Given the description of an element on the screen output the (x, y) to click on. 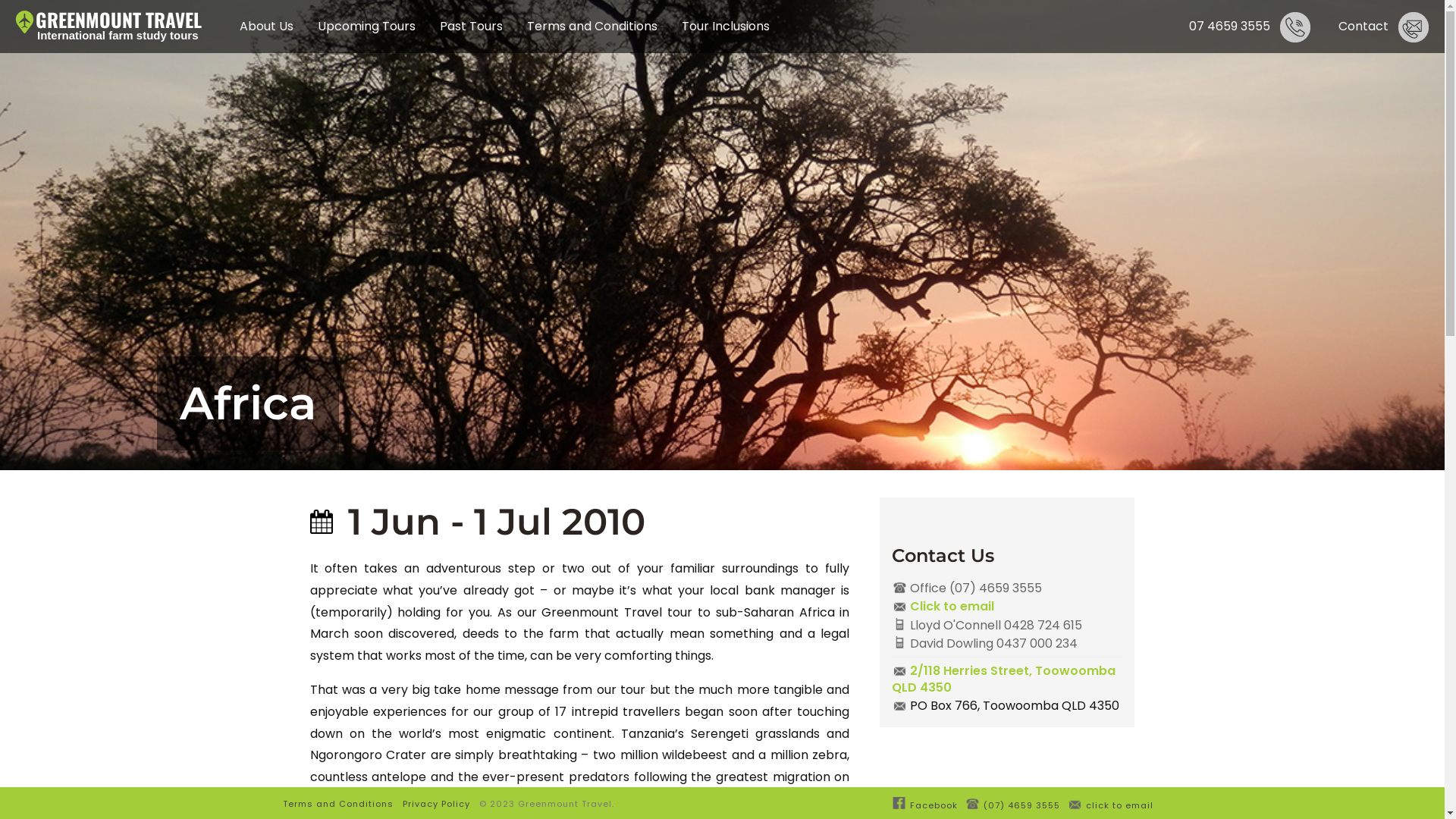
click to email Element type: text (1110, 802)
About Us Element type: text (266, 26)
Past Tours Element type: text (470, 26)
(07) 4659 3555 Element type: text (1012, 802)
Terms and Conditions Element type: text (337, 803)
Office (07) 4659 3555 Element type: text (1006, 587)
GREENMOUNT TRAVEL
International farm study tours Element type: text (117, 23)
Tour Inclusions Element type: text (725, 26)
Privacy Policy Element type: text (435, 803)
Terms and Conditions Element type: text (591, 26)
Contact Element type: text (1385, 26)
Click to email Element type: text (1006, 605)
07 4659 3555 Element type: text (1251, 26)
Upcoming Tours Element type: text (366, 26)
David Dowling 0437 000 234 Element type: text (1006, 642)
2/118 Herries Street, Toowoomba QLD 4350 Element type: text (1006, 678)
Facebook Element type: text (924, 802)
Lloyd O'Connell 0428 724 615 Element type: text (1006, 624)
